Given the description of an element on the screen output the (x, y) to click on. 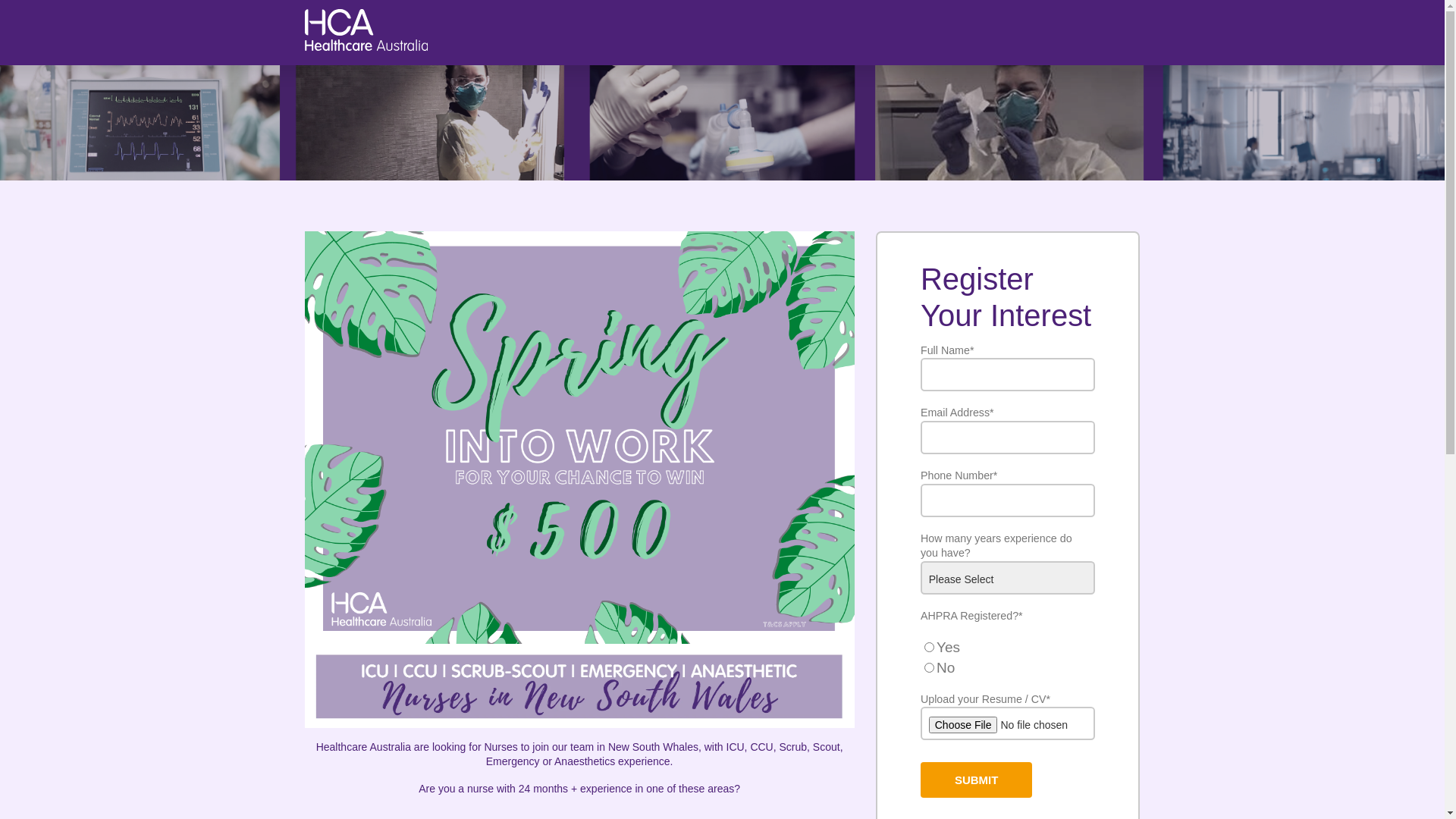
Copy of Spring-1 Element type: hover (579, 685)
Copy of Spring (1) Element type: hover (579, 437)
Submit Element type: text (976, 779)
Healthcare Australia Healthcare Australia Element type: text (365, 45)
